Given the description of an element on the screen output the (x, y) to click on. 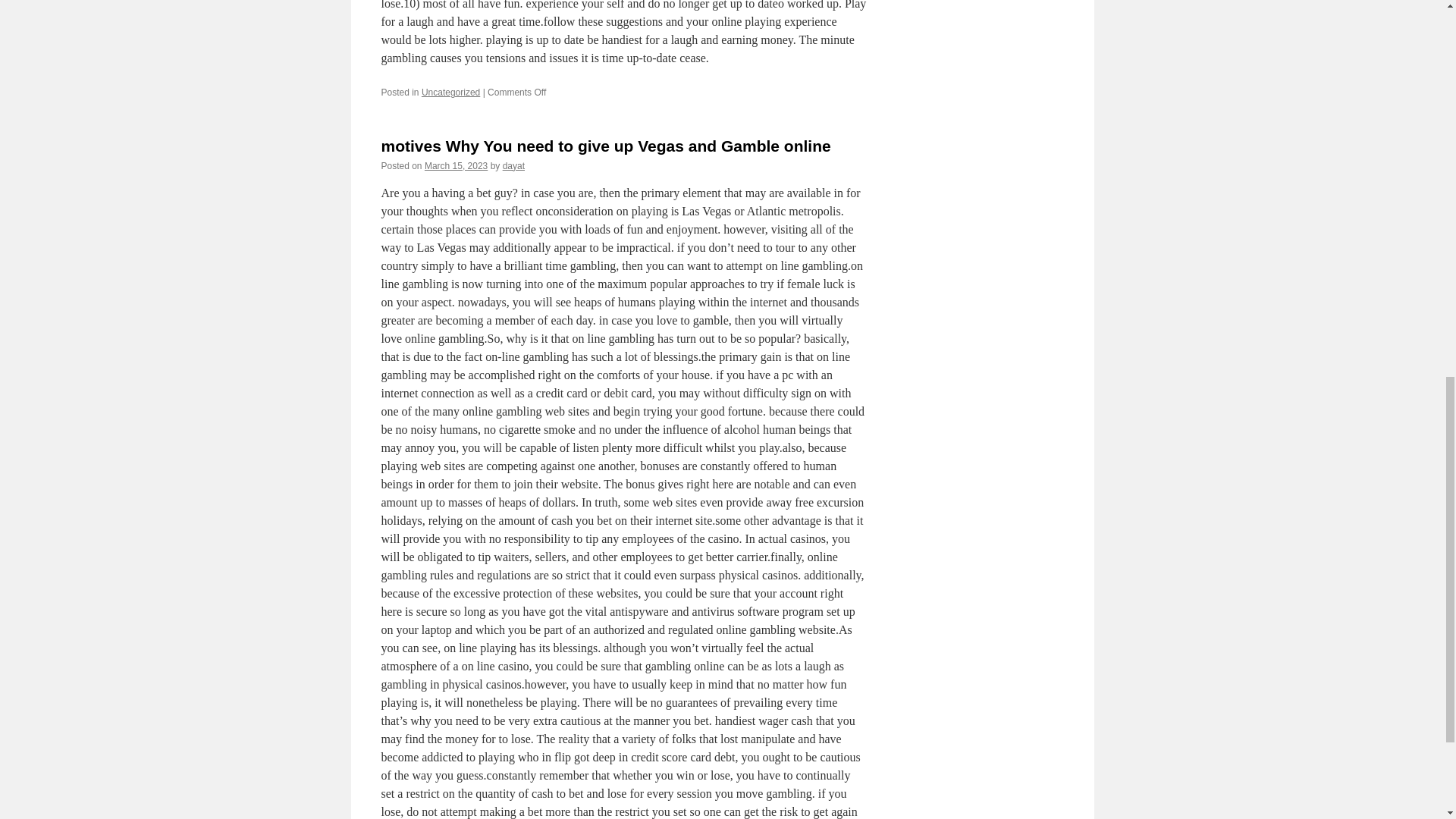
dayat (513, 165)
March 15, 2023 (456, 165)
motives Why You need to give up Vegas and Gamble online (604, 145)
Uncategorized (451, 91)
1:36 pm (456, 165)
View all posts by dayat (513, 165)
